Given the description of an element on the screen output the (x, y) to click on. 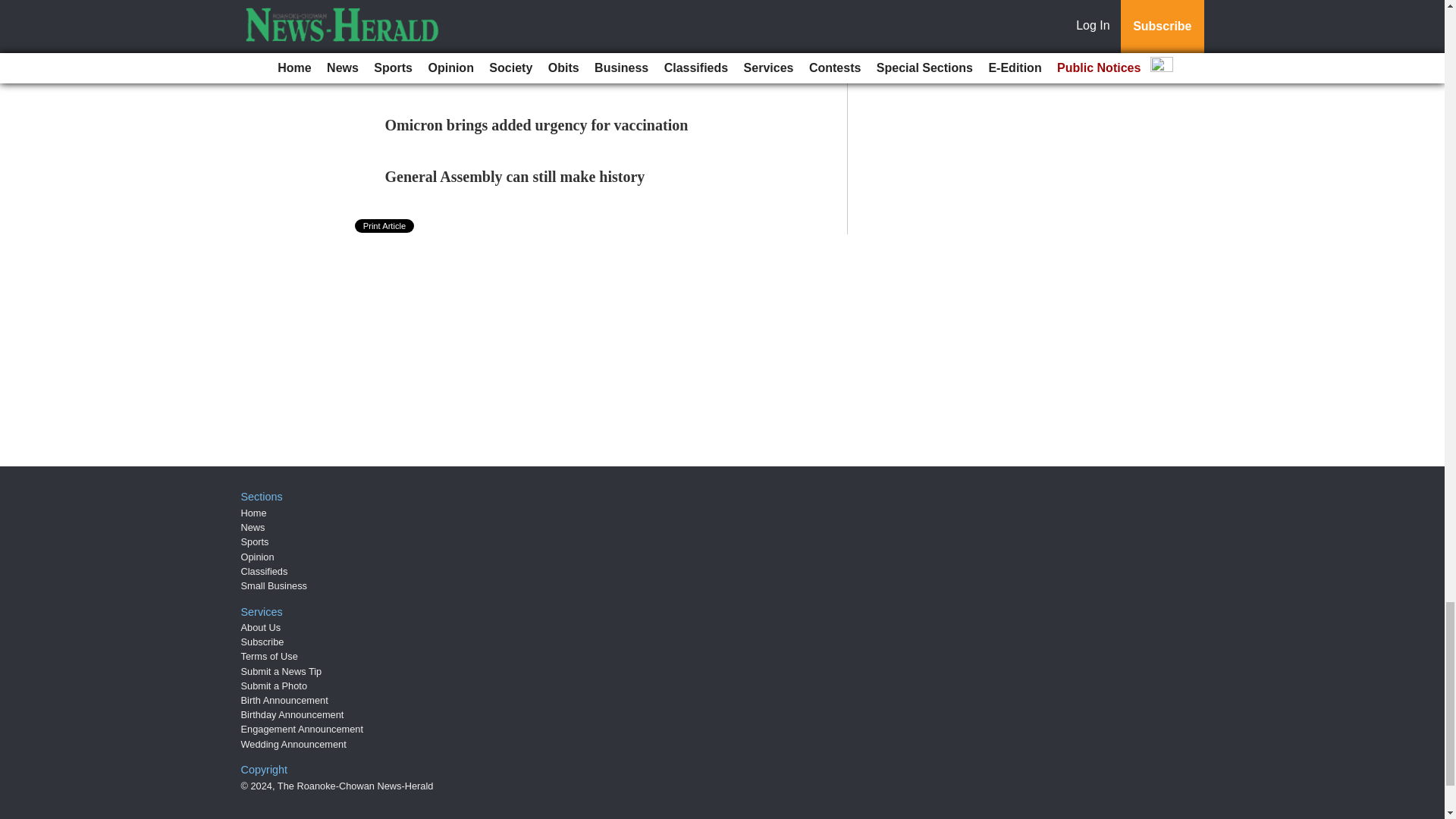
Important civil rights case has its roots in Roanoke Rapids (573, 73)
Thoughts and prayers are not enough (506, 21)
Omicron brings added urgency for vaccination (536, 125)
Print Article (384, 225)
General Assembly can still make history (515, 176)
Important civil rights case has its roots in Roanoke Rapids (573, 73)
General Assembly can still make history (515, 176)
Thoughts and prayers are not enough (506, 21)
Omicron brings added urgency for vaccination (536, 125)
